Given the description of an element on the screen output the (x, y) to click on. 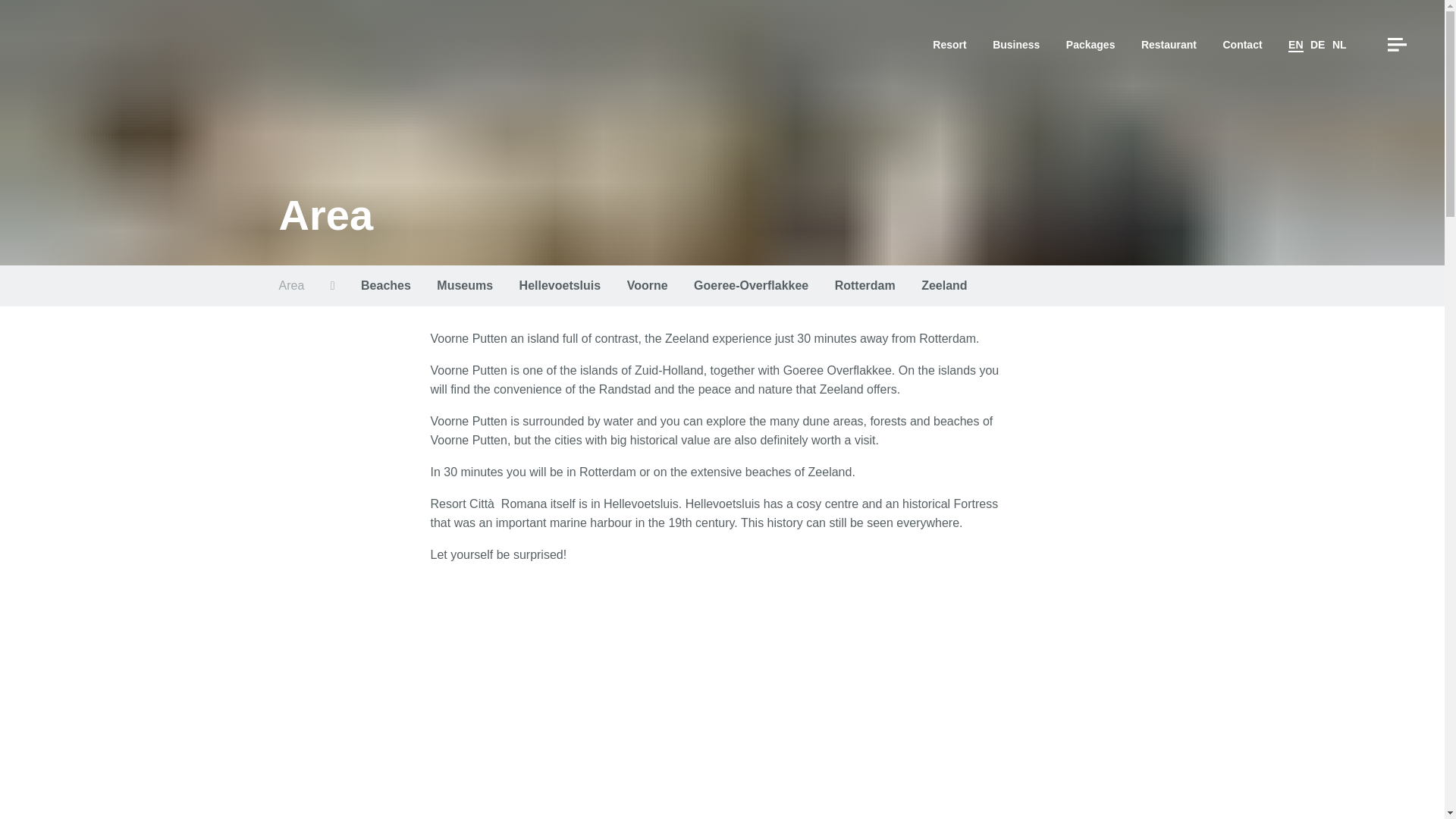
Packages (1090, 44)
Contact (1242, 44)
Business (1015, 44)
NL (1339, 44)
DE (1317, 44)
Restaurant (1168, 44)
EN (1295, 45)
Resort (949, 44)
